Given the description of an element on the screen output the (x, y) to click on. 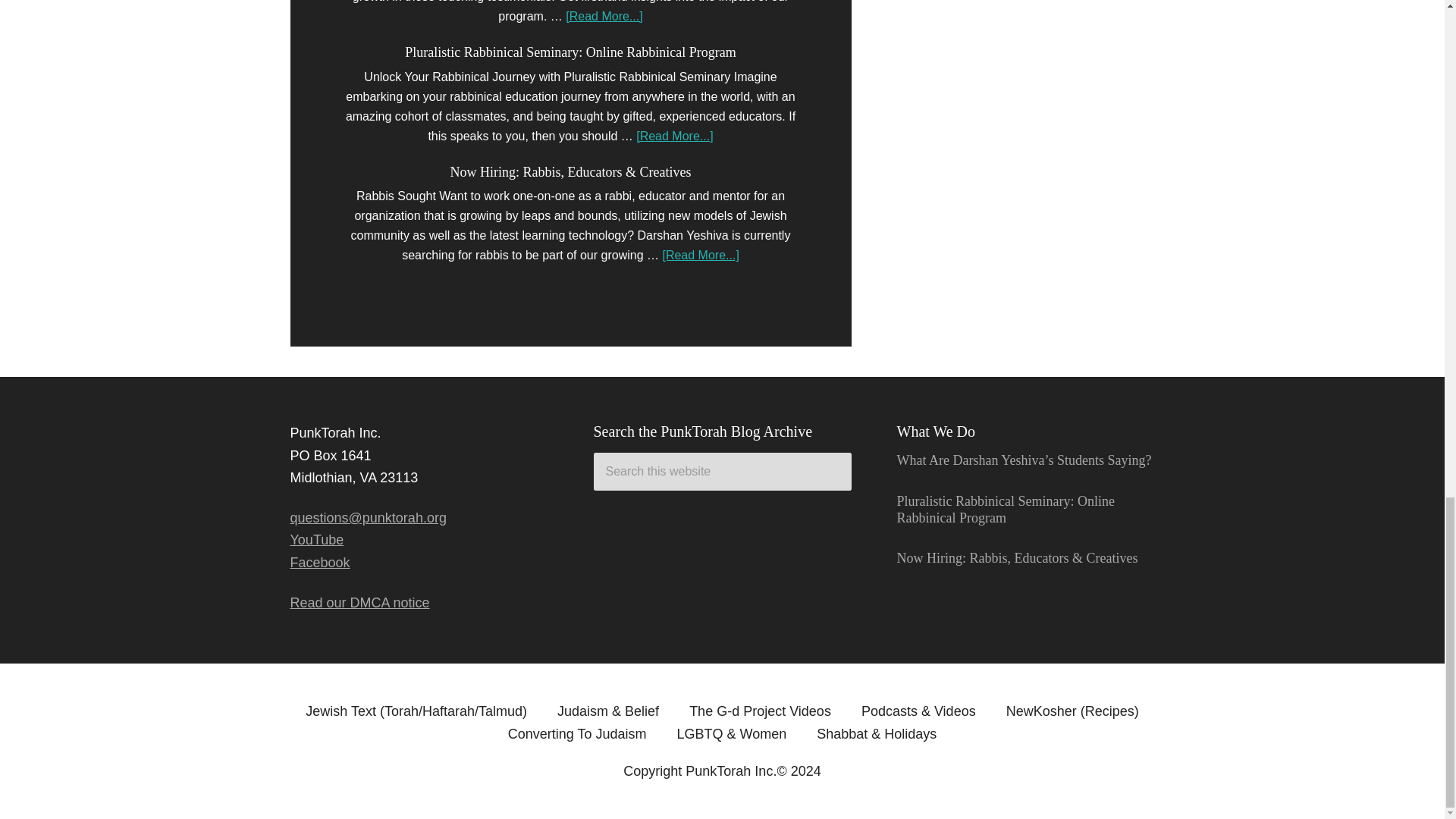
Facebook (319, 562)
Read our DMCA notice (359, 602)
Pluralistic Rabbinical Seminary: Online Rabbinical Program (569, 52)
YouTube (316, 539)
